Given the description of an element on the screen output the (x, y) to click on. 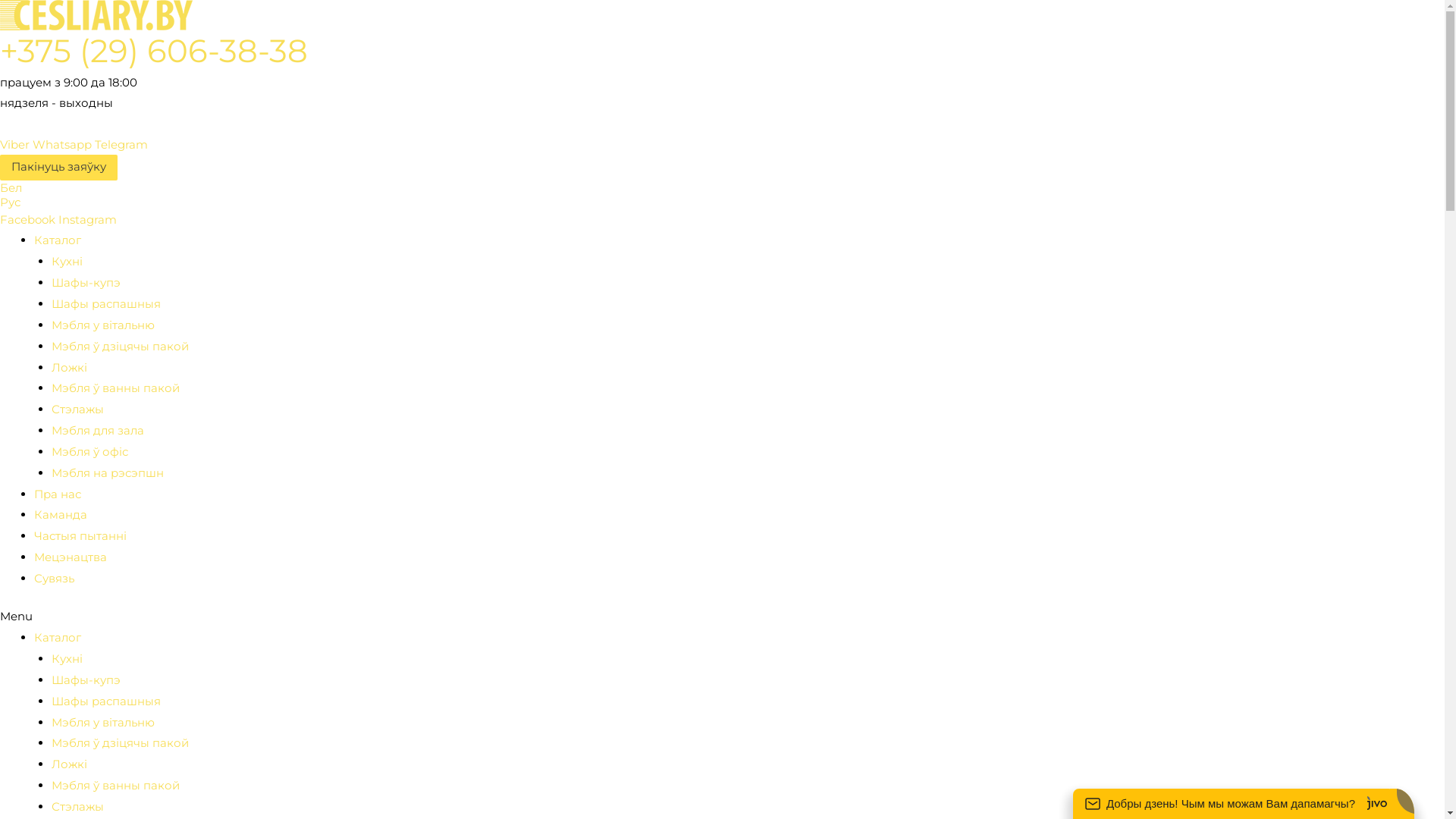
Whatsapp Element type: text (63, 144)
+375 (29) 606-38-38 Element type: text (153, 50)
Facebook Element type: text (29, 219)
Telegram Element type: text (120, 144)
Viber Element type: text (16, 144)
Instagram Element type: text (87, 219)
